Given the description of an element on the screen output the (x, y) to click on. 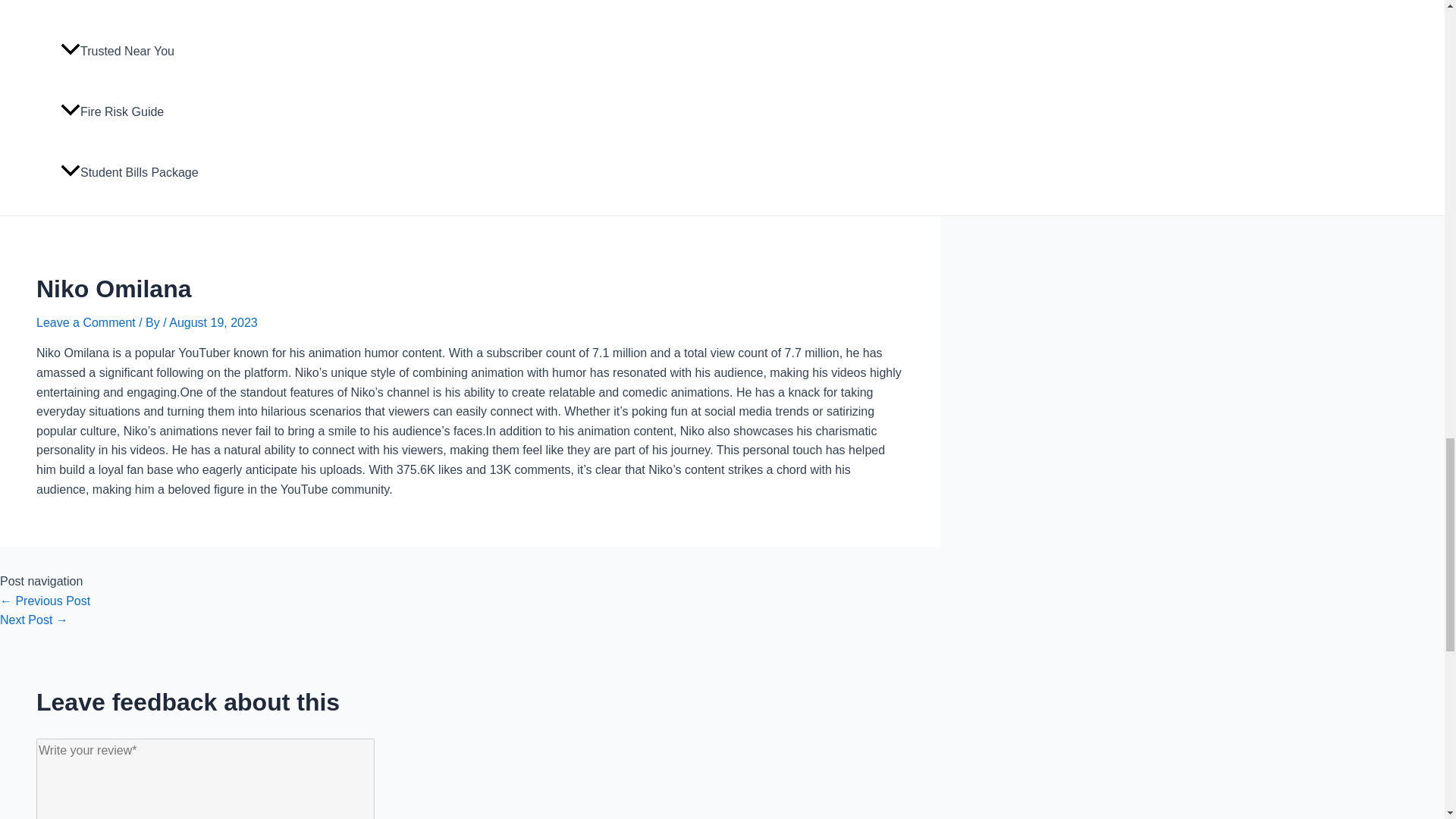
Student Bills Package (151, 172)
Trusted Near You (151, 51)
Birmingham Business News (151, 10)
Fire Risk Guide (151, 111)
